Given the description of an element on the screen output the (x, y) to click on. 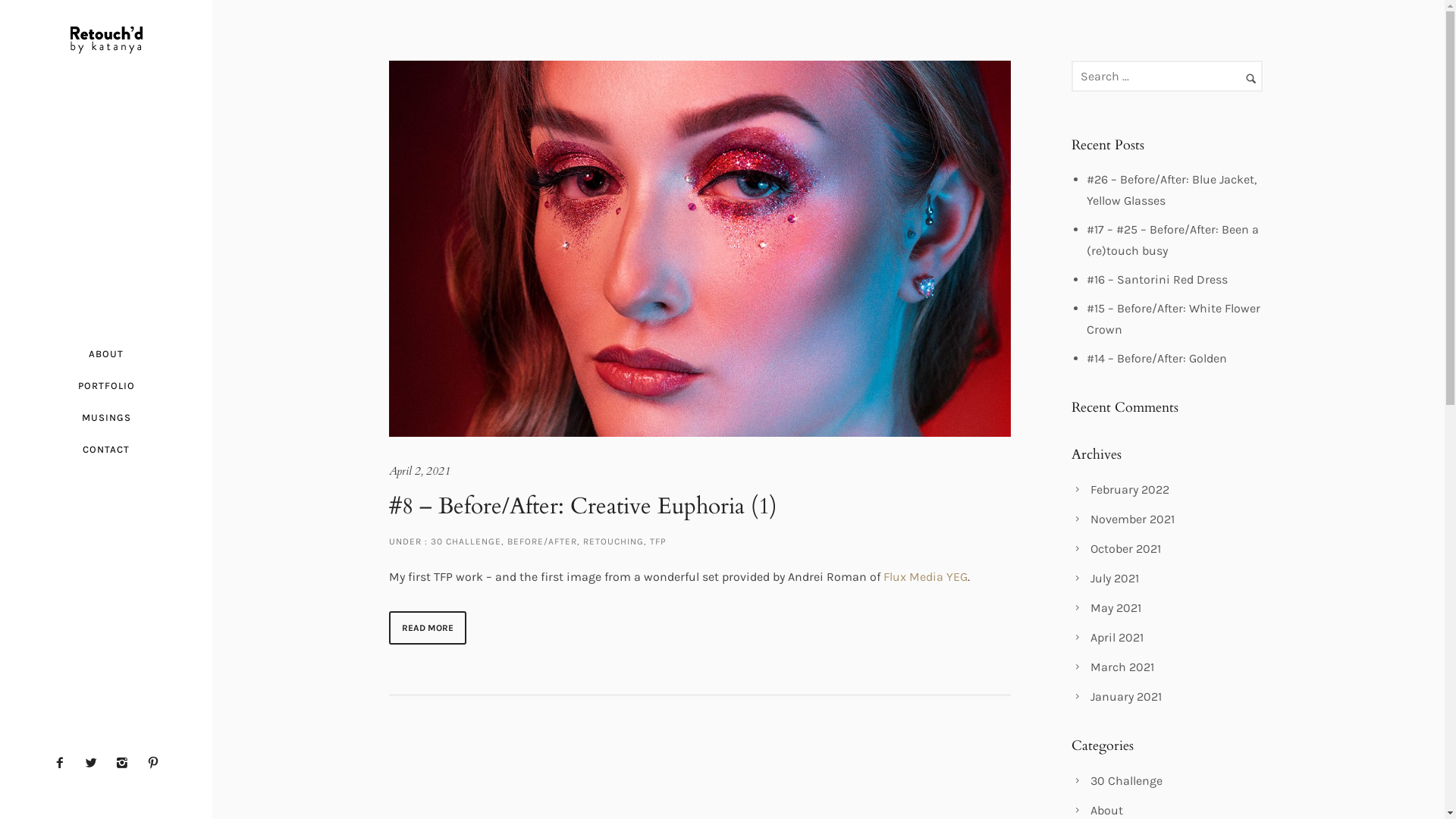
CONTACT Element type: text (105, 449)
February 2022 Element type: text (1129, 489)
30 CHALLENGE Element type: text (464, 541)
MUSINGS Element type: text (106, 417)
October 2021 Element type: text (1125, 548)
January 2021 Element type: text (1125, 696)
About Element type: text (1106, 810)
30 Challenge Element type: text (1126, 780)
READ MORE Element type: text (426, 627)
TFP Element type: text (657, 541)
BEFORE/AFTER Element type: text (541, 541)
RETOUCHING Element type: text (612, 541)
May 2021 Element type: text (1115, 607)
March 2021 Element type: text (1122, 666)
November 2021 Element type: text (1132, 518)
Flux Media YEG Element type: text (924, 576)
July 2021 Element type: text (1114, 578)
ABOUT Element type: text (105, 354)
April 2021 Element type: text (1116, 637)
PORTFOLIO Element type: text (105, 385)
April 2, 2021 Element type: text (418, 470)
